Given the description of an element on the screen output the (x, y) to click on. 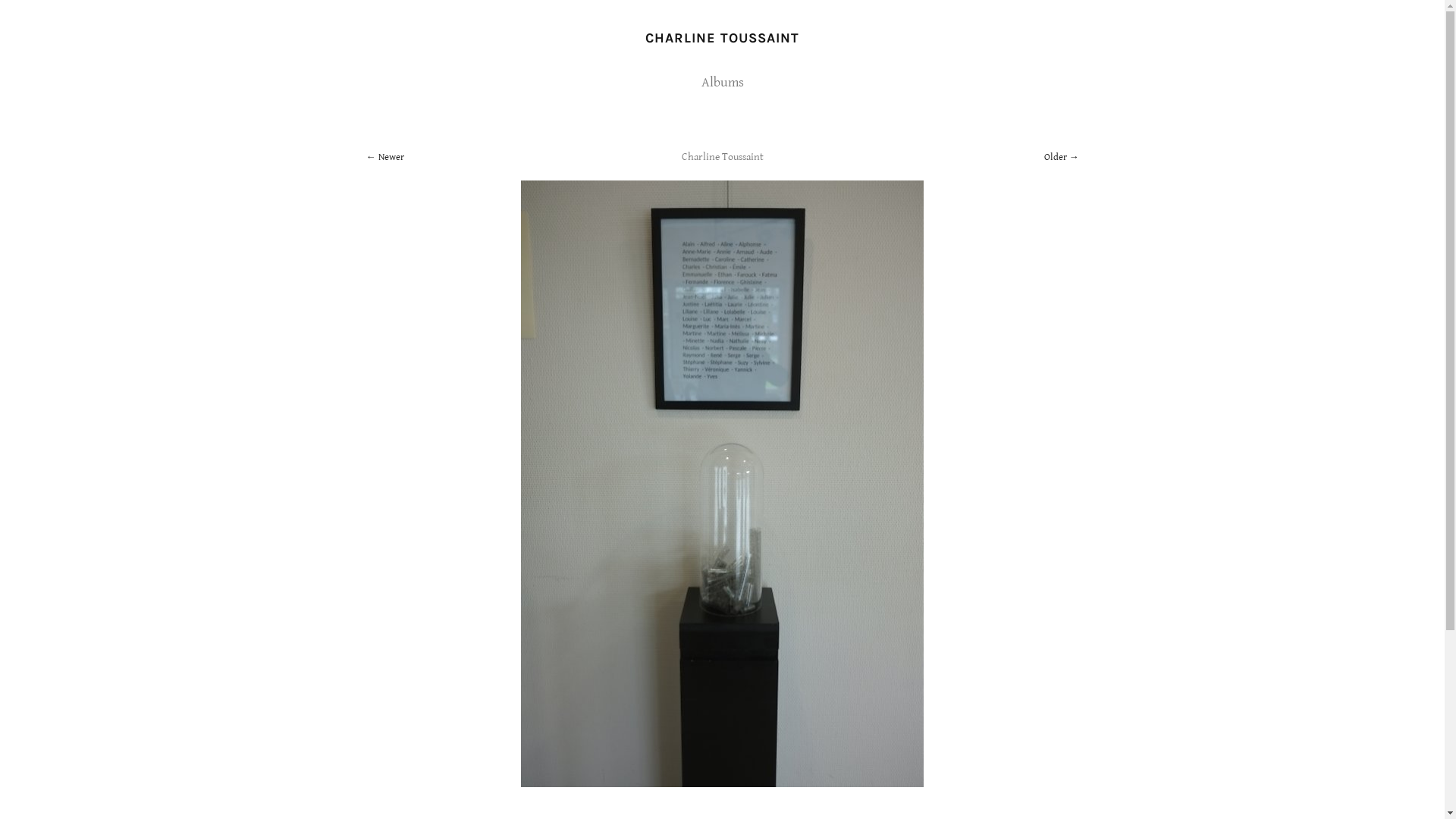
Older Element type: text (1060, 157)
CHARLINE TOUSSAINT Element type: text (722, 37)
Newer Element type: text (384, 157)
Albums Element type: text (721, 82)
